Given the description of an element on the screen output the (x, y) to click on. 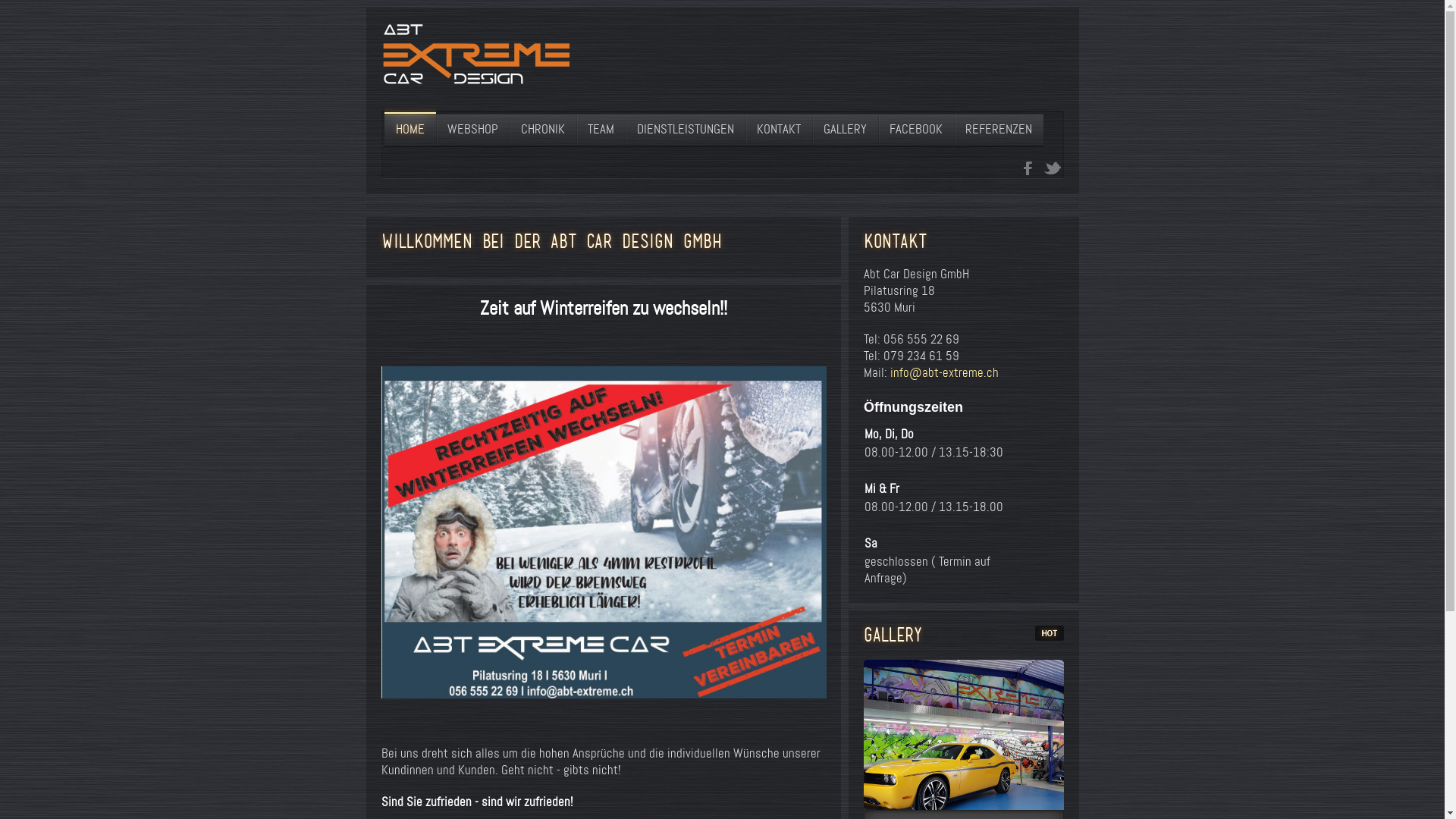
HOME Element type: text (409, 129)
WEBSHOP Element type: text (471, 129)
TEAM Element type: text (600, 129)
info@abt-extreme.ch Element type: text (944, 372)
KONTAKT Element type: text (777, 129)
CHRONIK Element type: text (542, 129)
GALLERY Element type: text (844, 129)
FACEBOOK Element type: text (915, 129)
DIENSTLEISTUNGEN Element type: text (684, 129)
REFERENZEN Element type: text (998, 129)
